Given the description of an element on the screen output the (x, y) to click on. 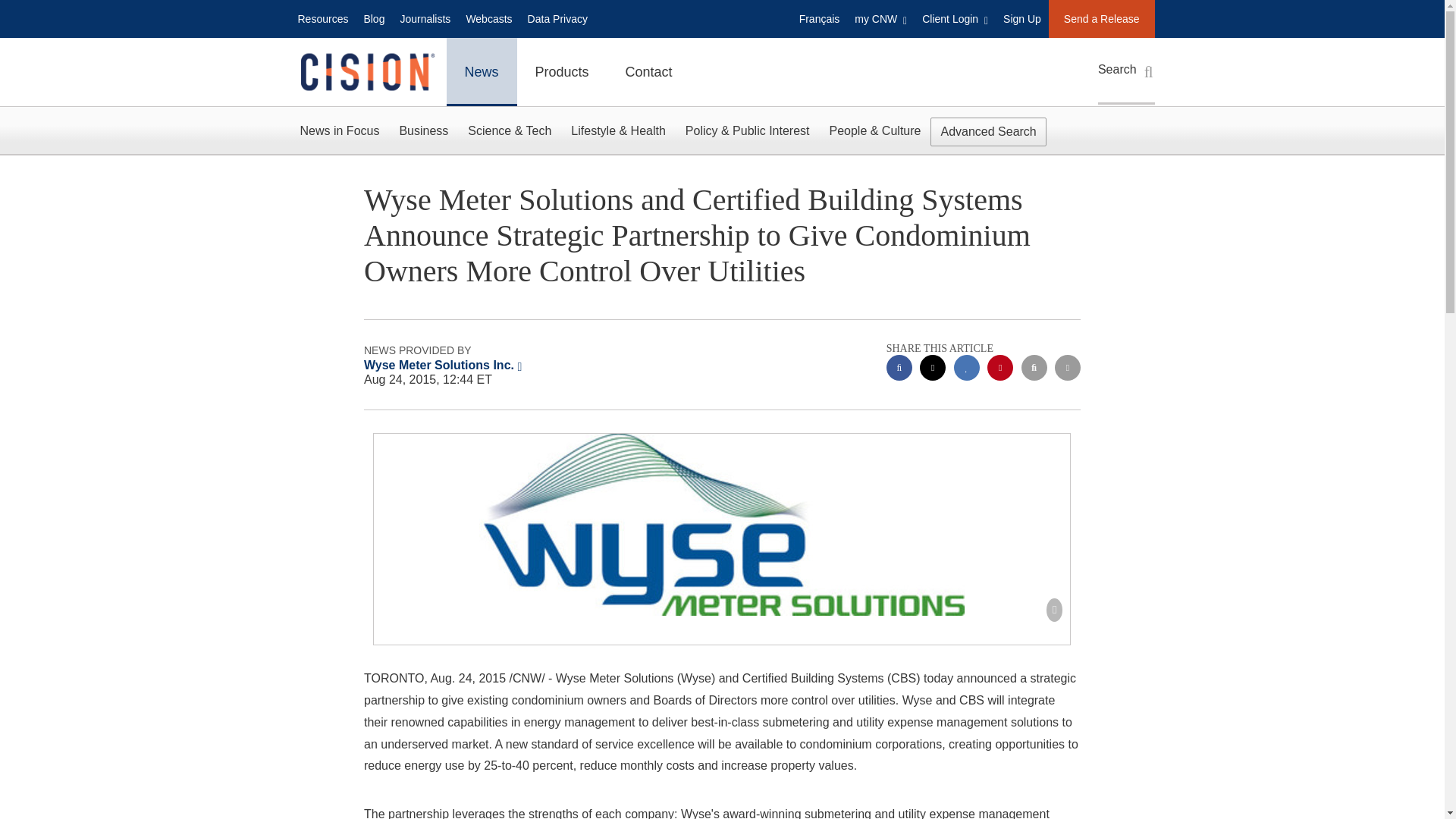
News in Focus (338, 130)
Cision Canada (366, 71)
Business (423, 130)
